Given the description of an element on the screen output the (x, y) to click on. 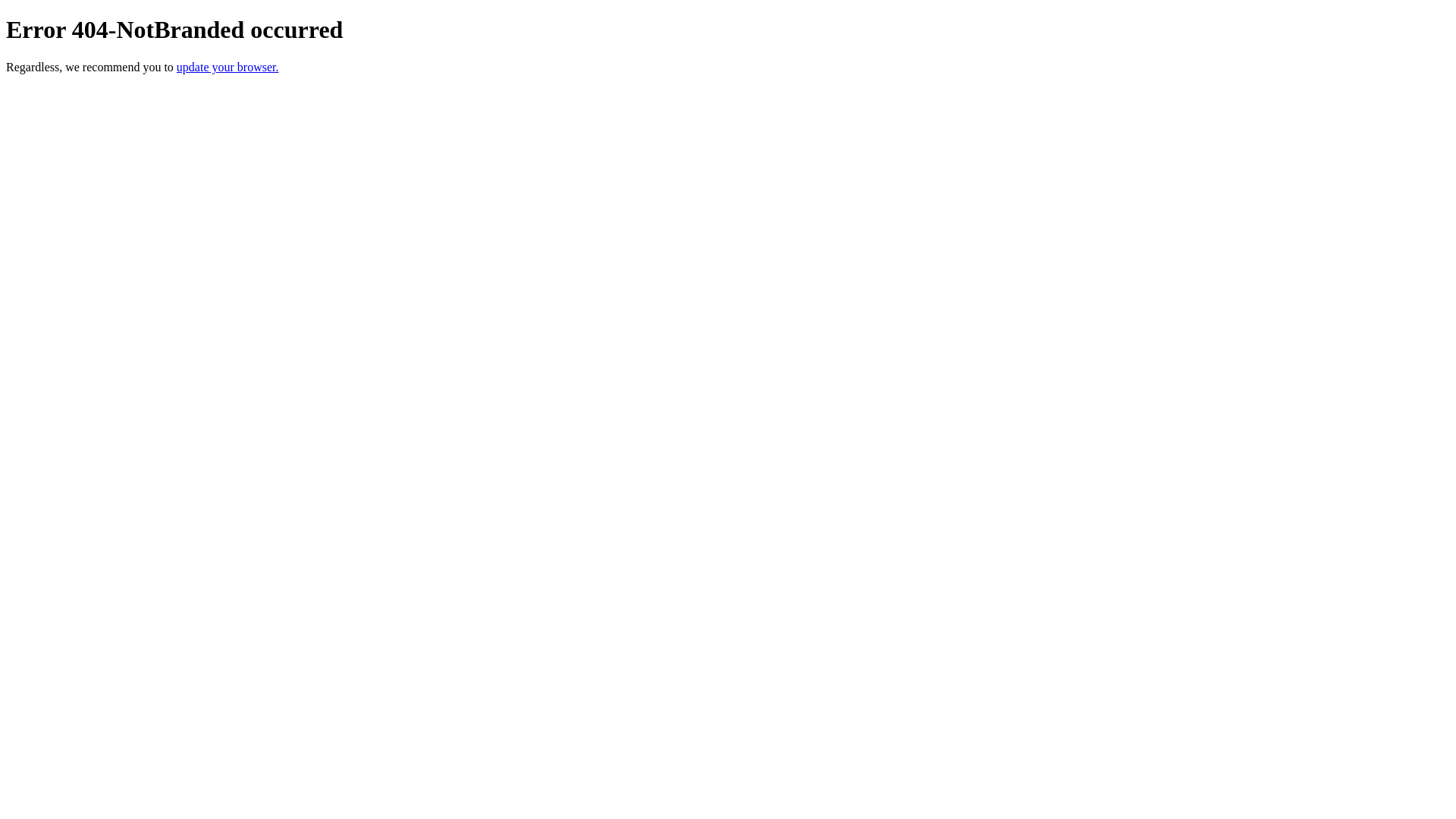
update your browser. Element type: text (227, 66)
